Given the description of an element on the screen output the (x, y) to click on. 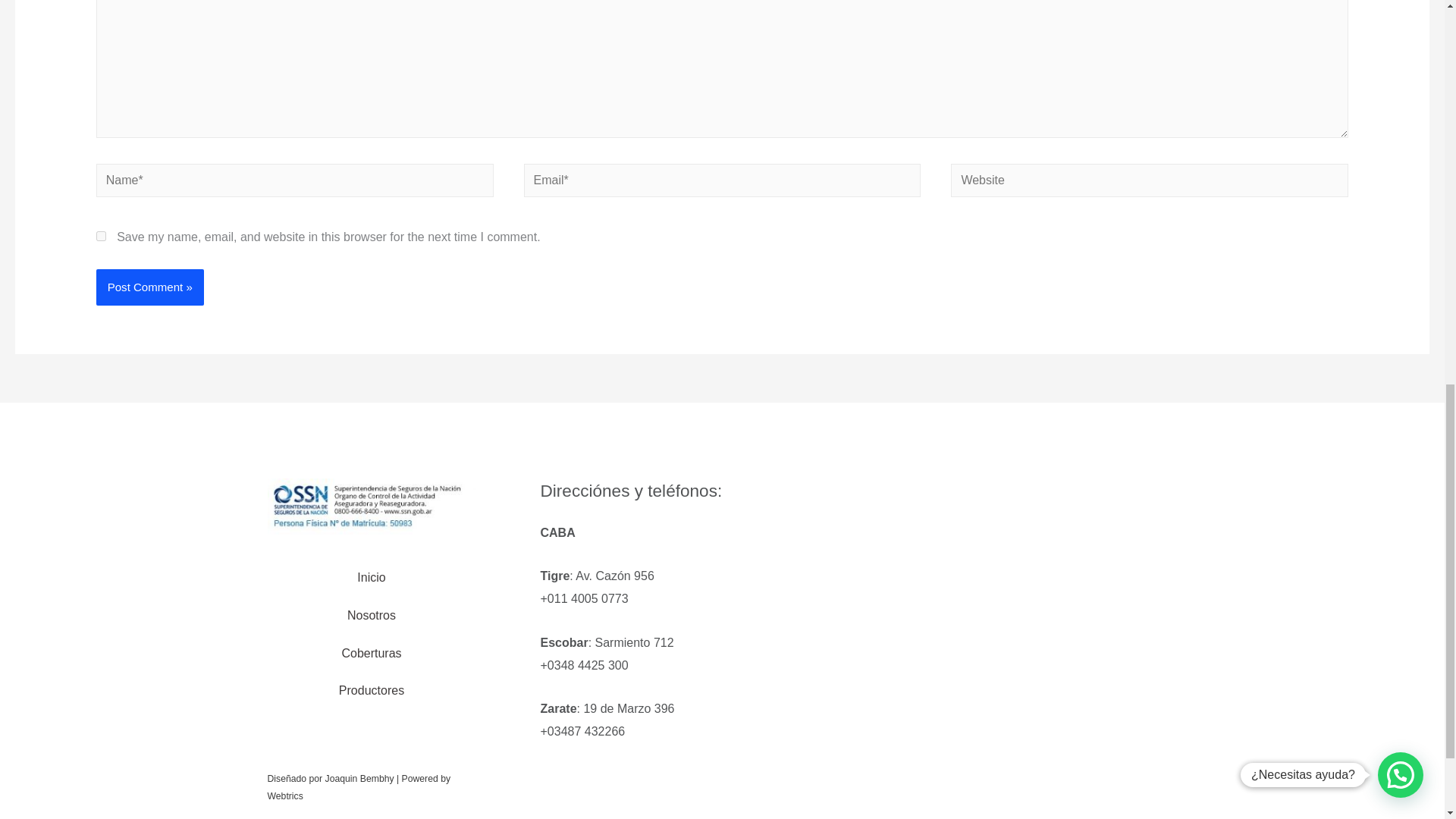
Productores (371, 690)
yes (101, 235)
Nosotros (371, 615)
Inicio (371, 577)
Coberturas (371, 653)
